Given the description of an element on the screen output the (x, y) to click on. 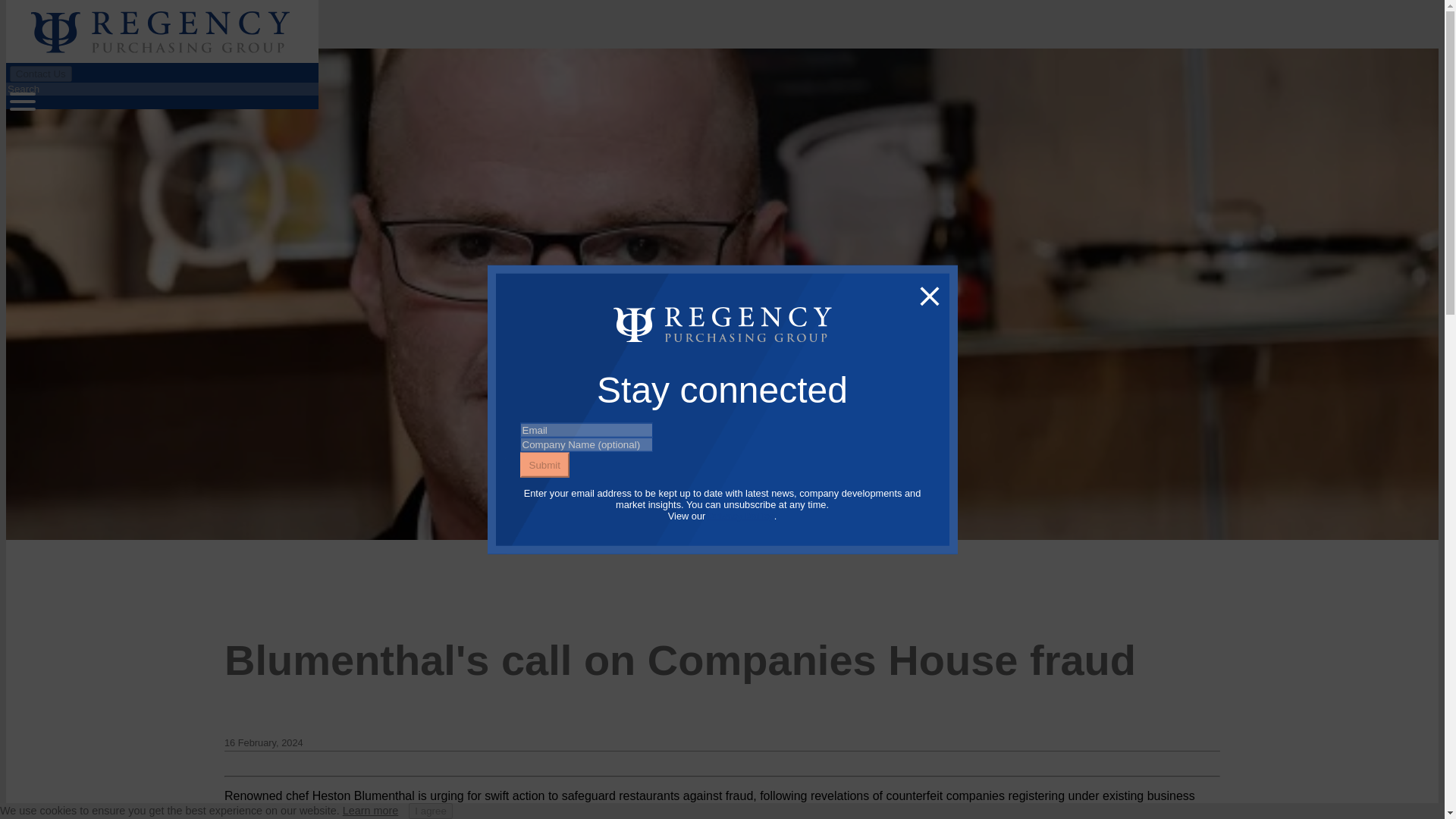
Submit (544, 464)
Contact Us (40, 73)
Contact Us (40, 72)
